Given the description of an element on the screen output the (x, y) to click on. 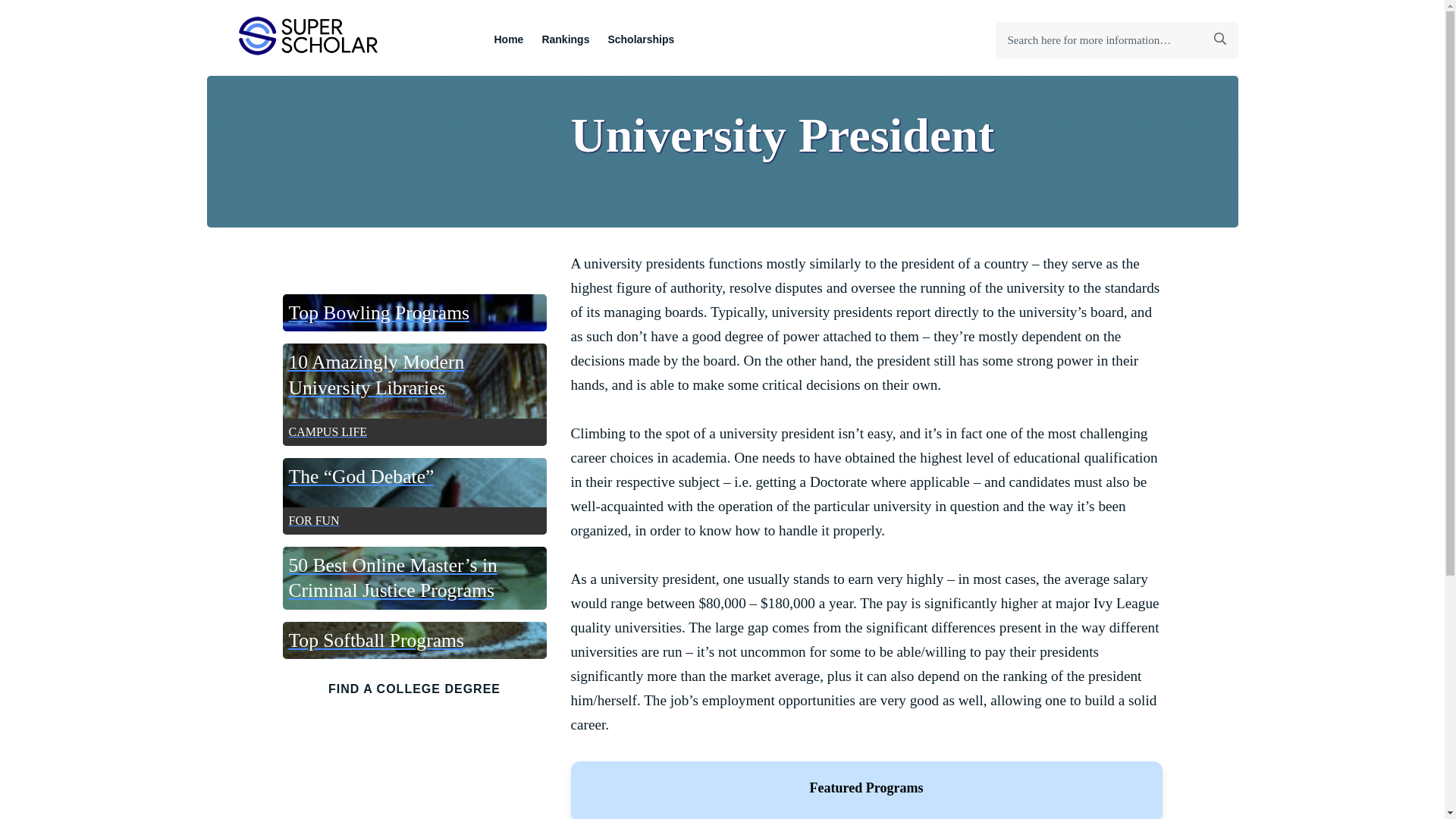
Scholarships (640, 38)
SUPER SCHOLAR (309, 35)
SUBMIT (414, 394)
Top Softball Programs (1218, 40)
Top Bowling Programs (414, 640)
Search for (414, 312)
